Given the description of an element on the screen output the (x, y) to click on. 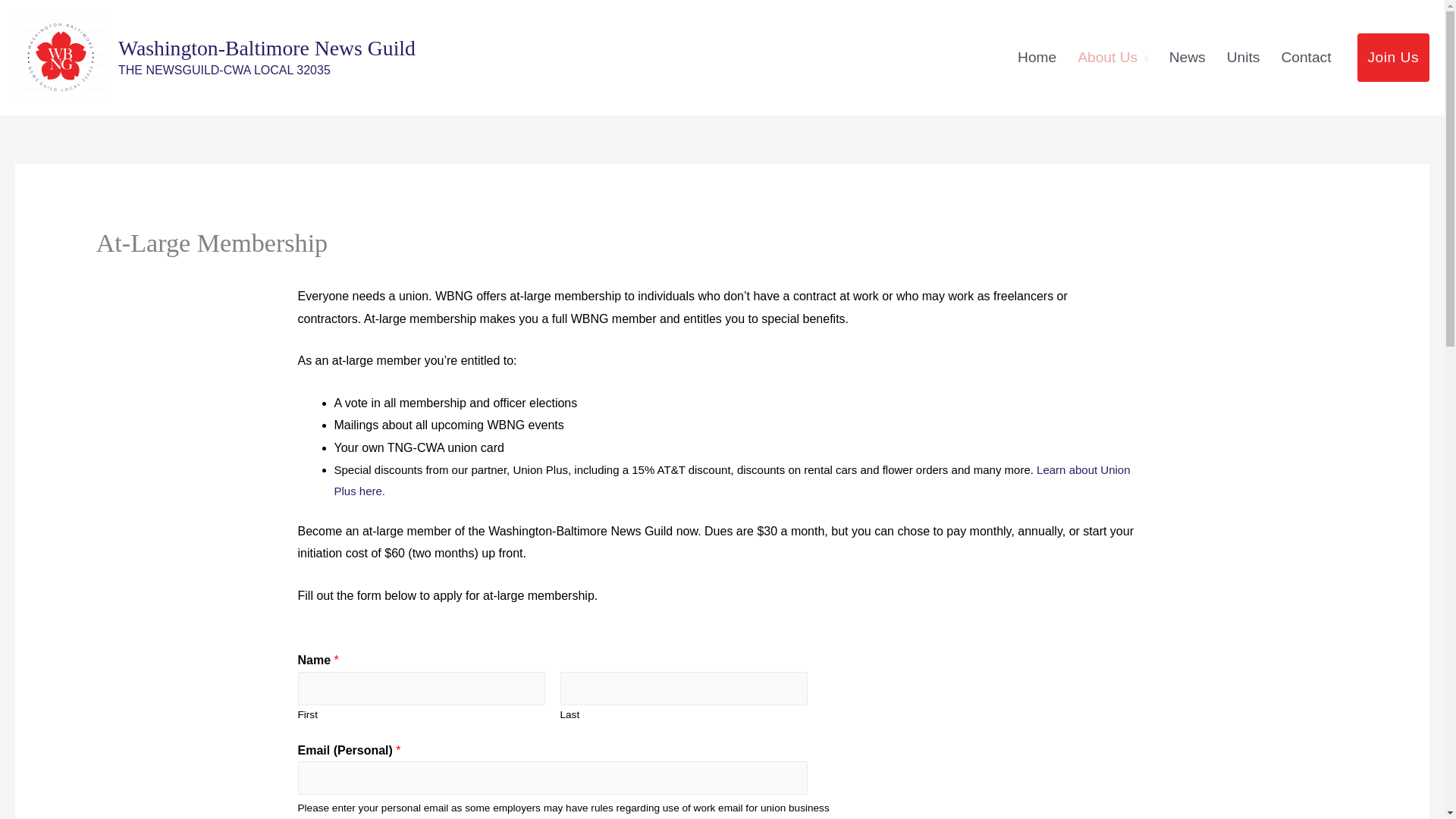
Washington-Baltimore News Guild (265, 47)
Learn about Union Plus here. (731, 480)
Join Us (1392, 57)
About Us (1112, 57)
